Given the description of an element on the screen output the (x, y) to click on. 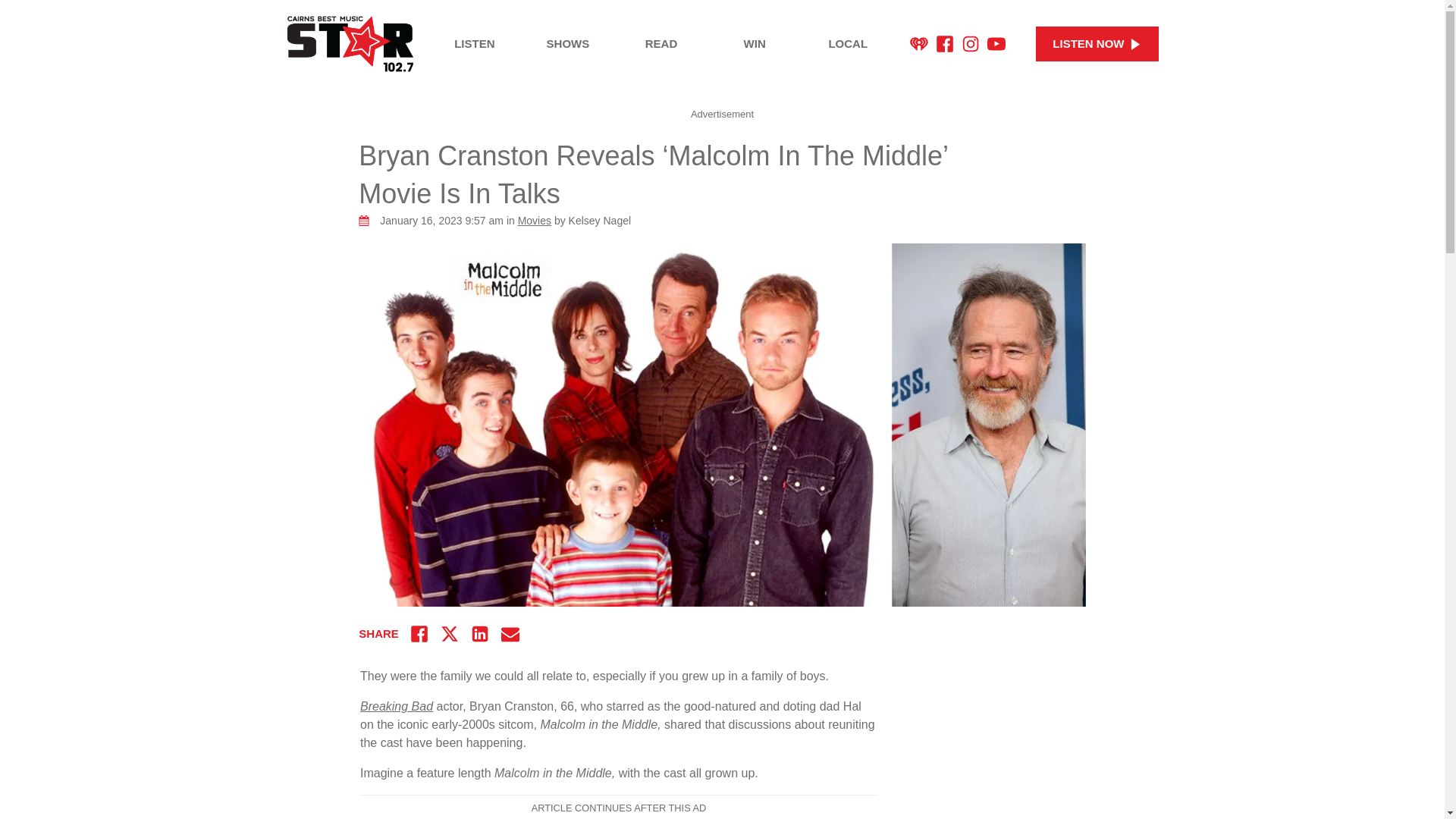
LOCAL (848, 43)
iHeart (919, 44)
3rd party ad content (1022, 746)
SHOWS (567, 43)
Instagram (969, 44)
LISTEN NOW (1096, 44)
YouTube (996, 44)
Facebook (944, 44)
READ (660, 43)
WIN (754, 43)
LISTEN (474, 43)
